Given the description of an element on the screen output the (x, y) to click on. 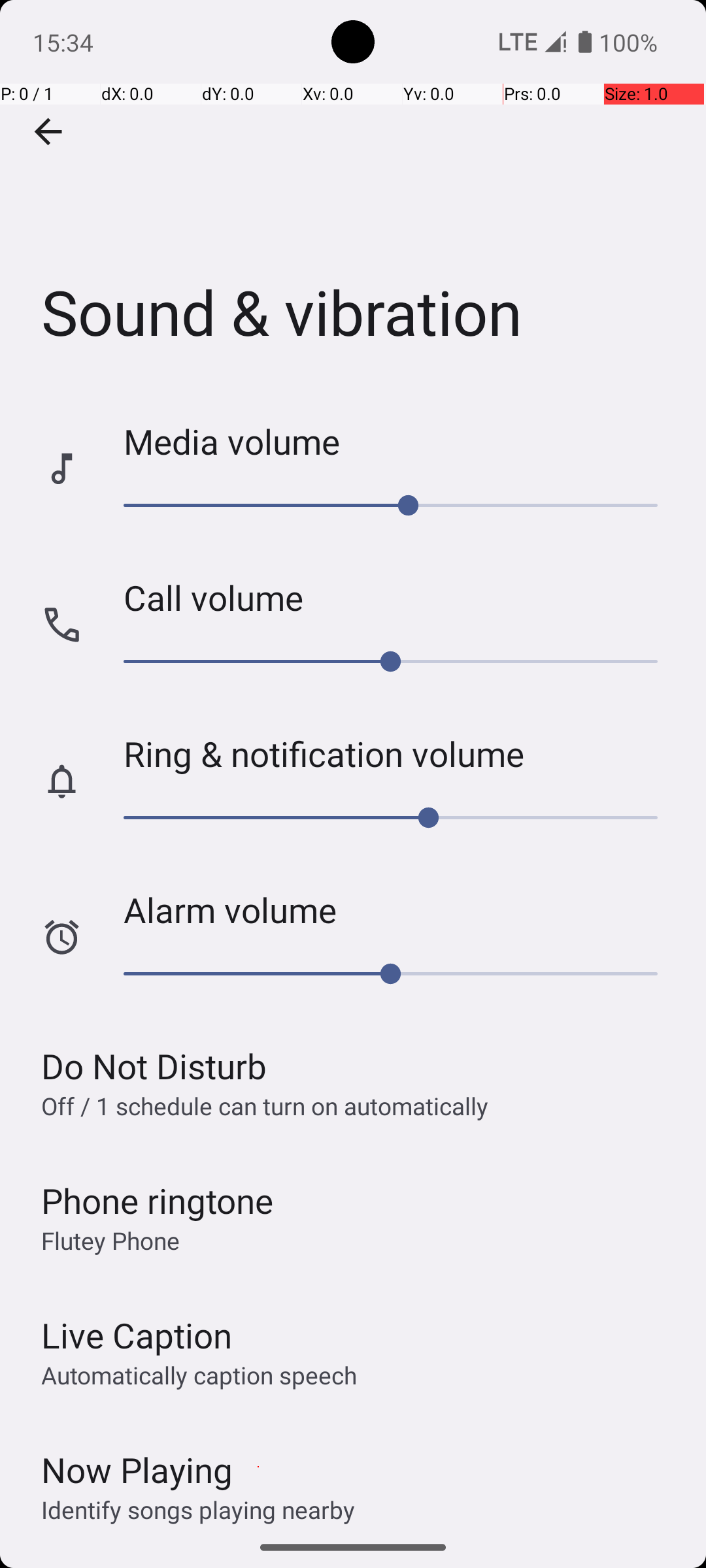
Off / 1 schedule can turn on automatically Element type: android.widget.TextView (264, 1105)
